Given the description of an element on the screen output the (x, y) to click on. 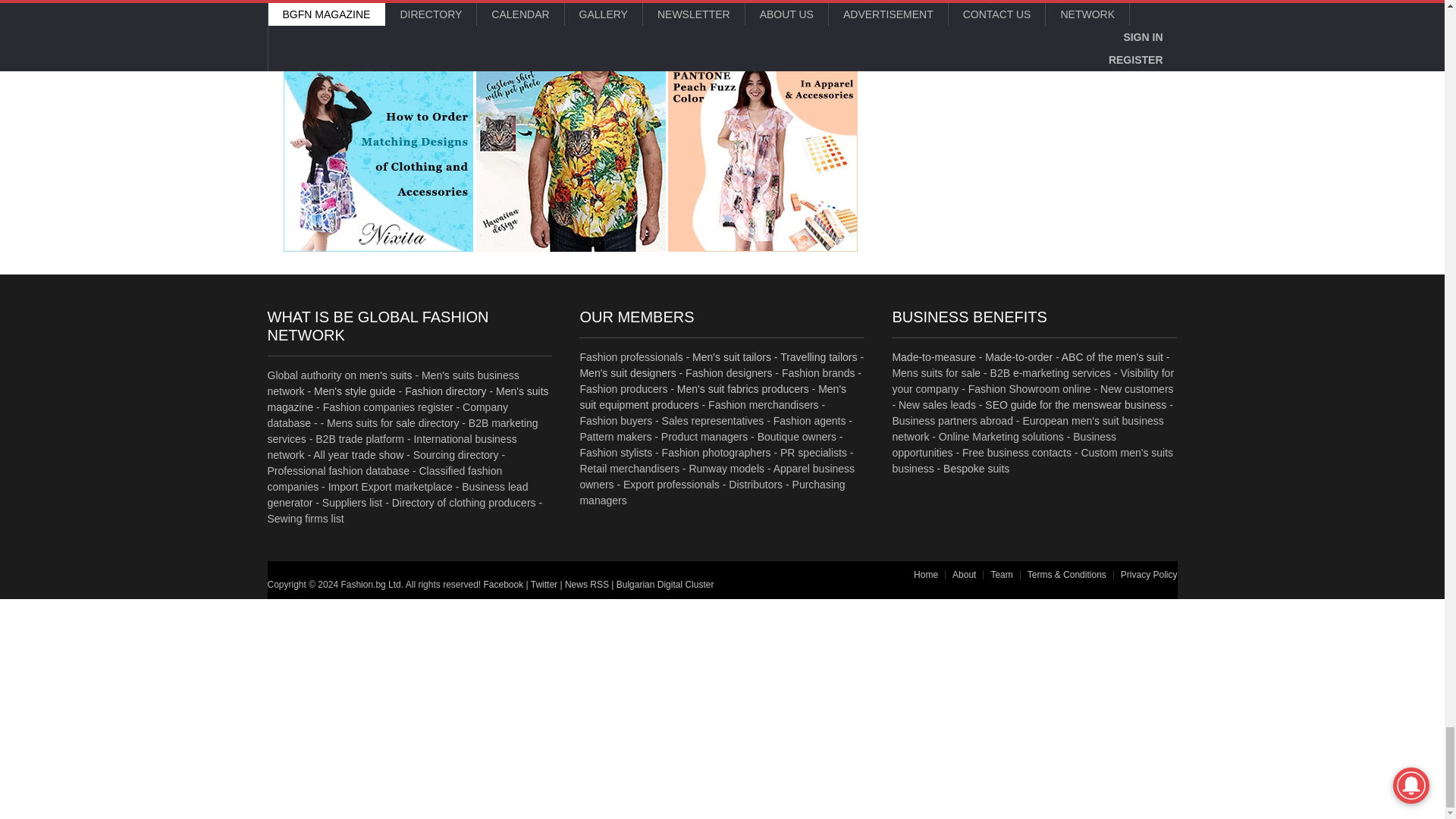
Is it Trending to Put Your Cat's Face on a Dress or Shirt? (570, 156)
How to Use the Pantone Color of the Year 2024 (762, 156)
